Given the description of an element on the screen output the (x, y) to click on. 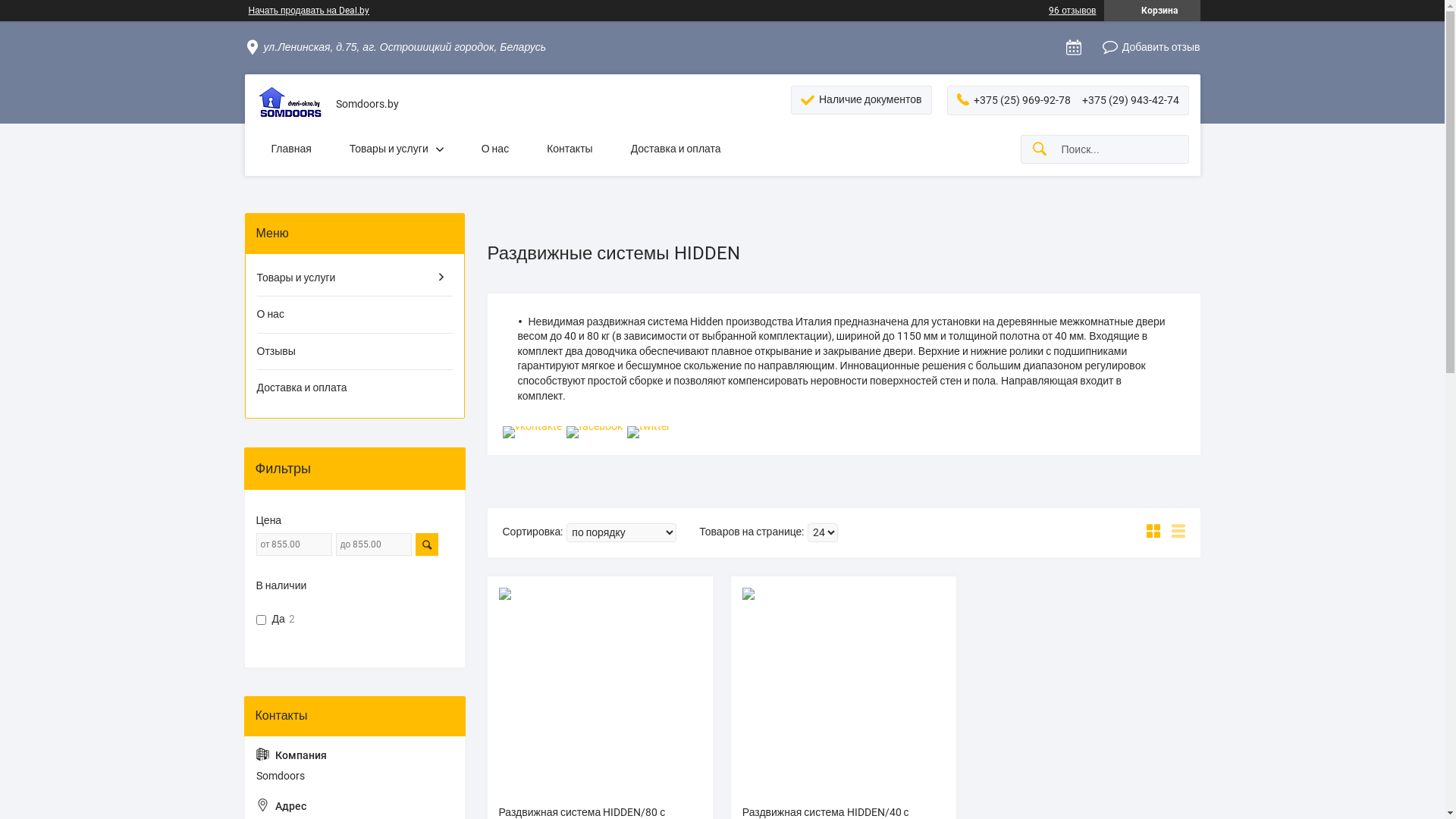
twitter Element type: hover (647, 426)
Somdoors Element type: hover (290, 103)
facebook Element type: hover (593, 426)
